Given the description of an element on the screen output the (x, y) to click on. 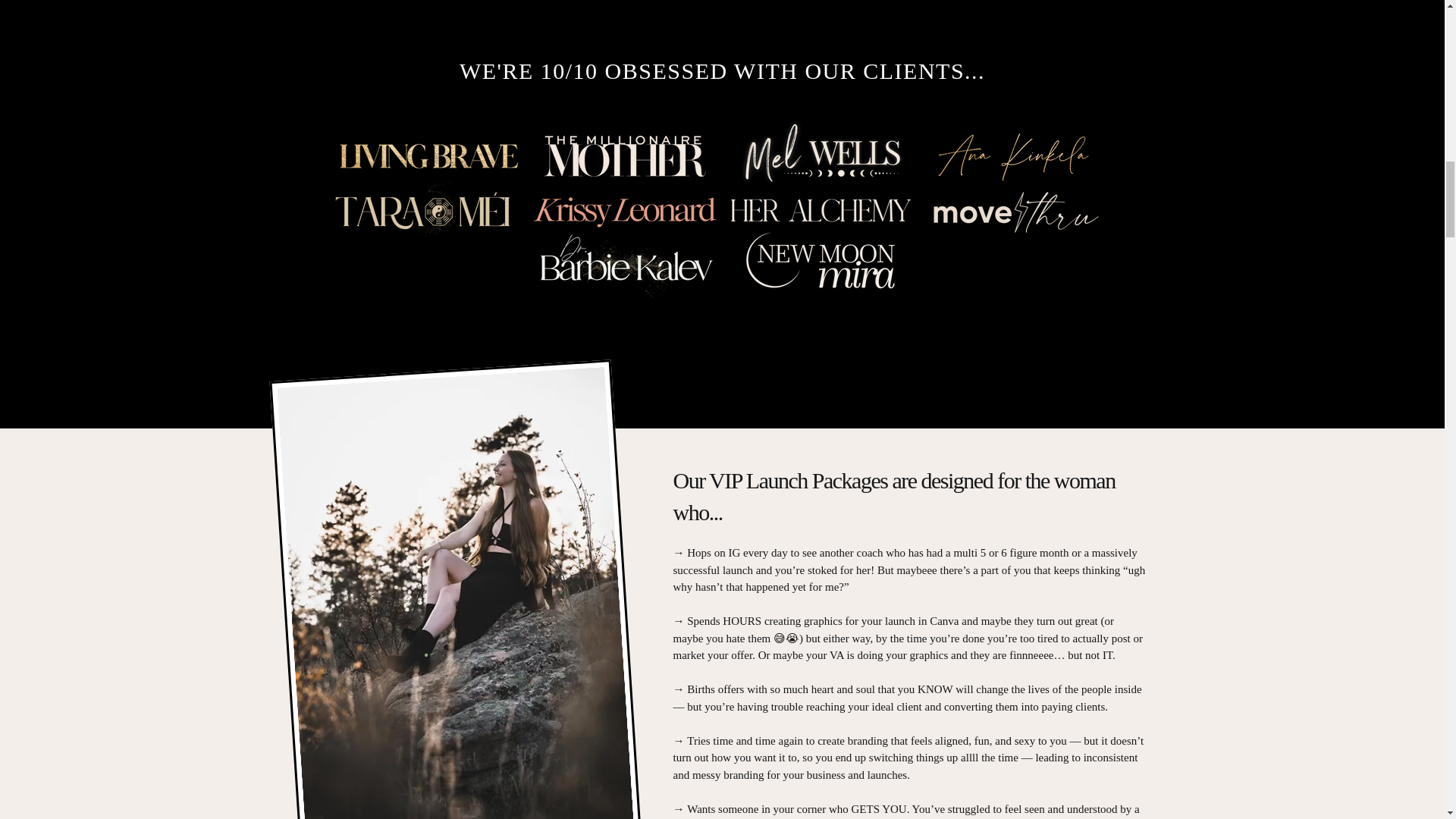
5.png (819, 212)
5.png (623, 212)
5.png (819, 155)
5.png (623, 262)
5.png (1015, 212)
5.png (1015, 155)
5.png (427, 155)
5.png (623, 155)
5.png (819, 262)
5.png (427, 212)
